Given the description of an element on the screen output the (x, y) to click on. 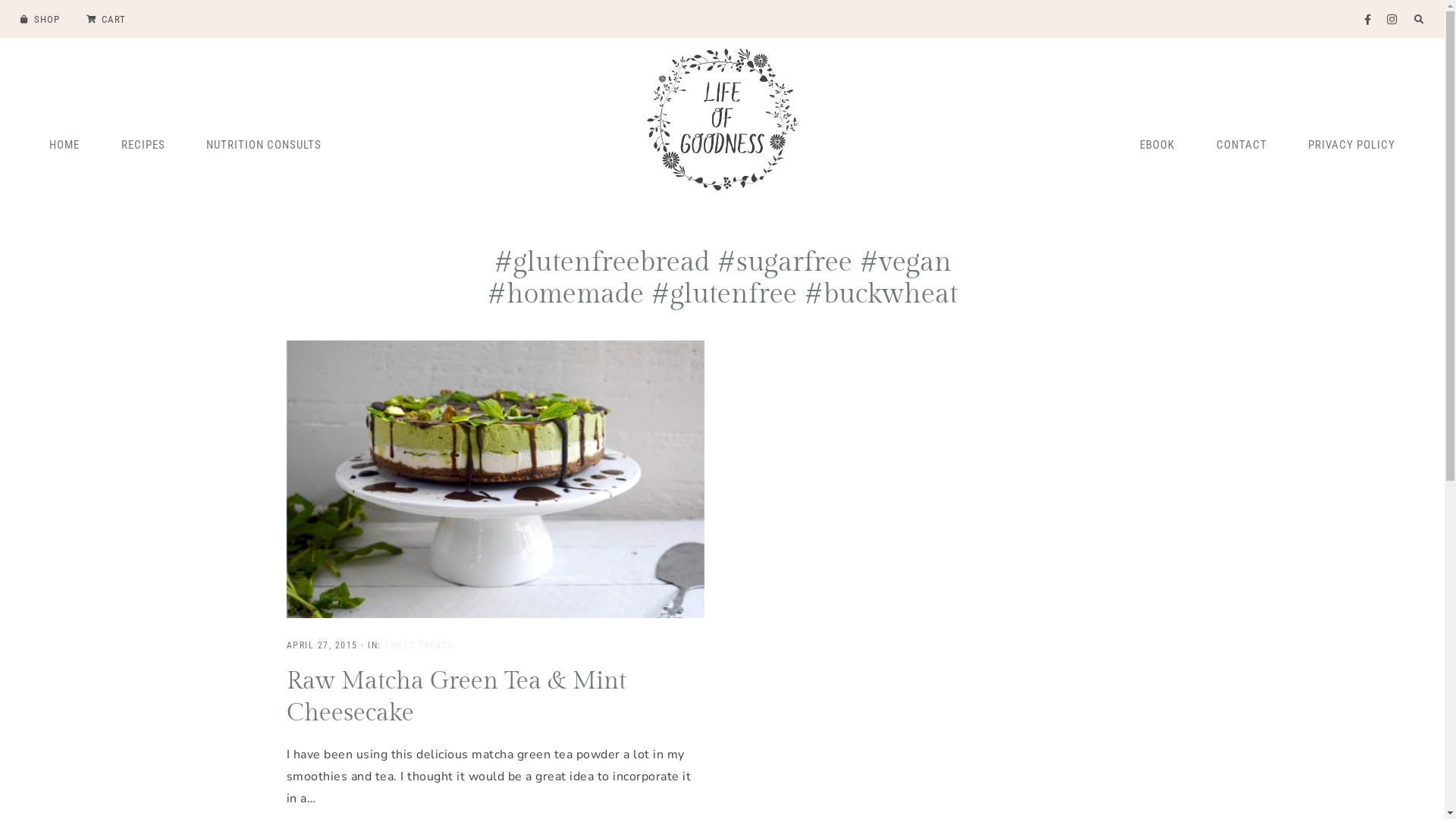
RECIPES Element type: text (142, 142)
SWEET TREATS Element type: text (418, 645)
SHOP Element type: text (40, 18)
CONTACT Element type: text (1240, 142)
EBOOK Element type: text (1156, 142)
PRIVACY POLICY Element type: text (1351, 142)
Raw Matcha Green Tea & Mint Cheesecake Element type: text (456, 696)
HOME Element type: text (64, 142)
CART Element type: text (105, 18)
NUTRITION CONSULTS Element type: text (263, 142)
Skip to primary navigation Element type: text (0, 37)
